Given the description of an element on the screen output the (x, y) to click on. 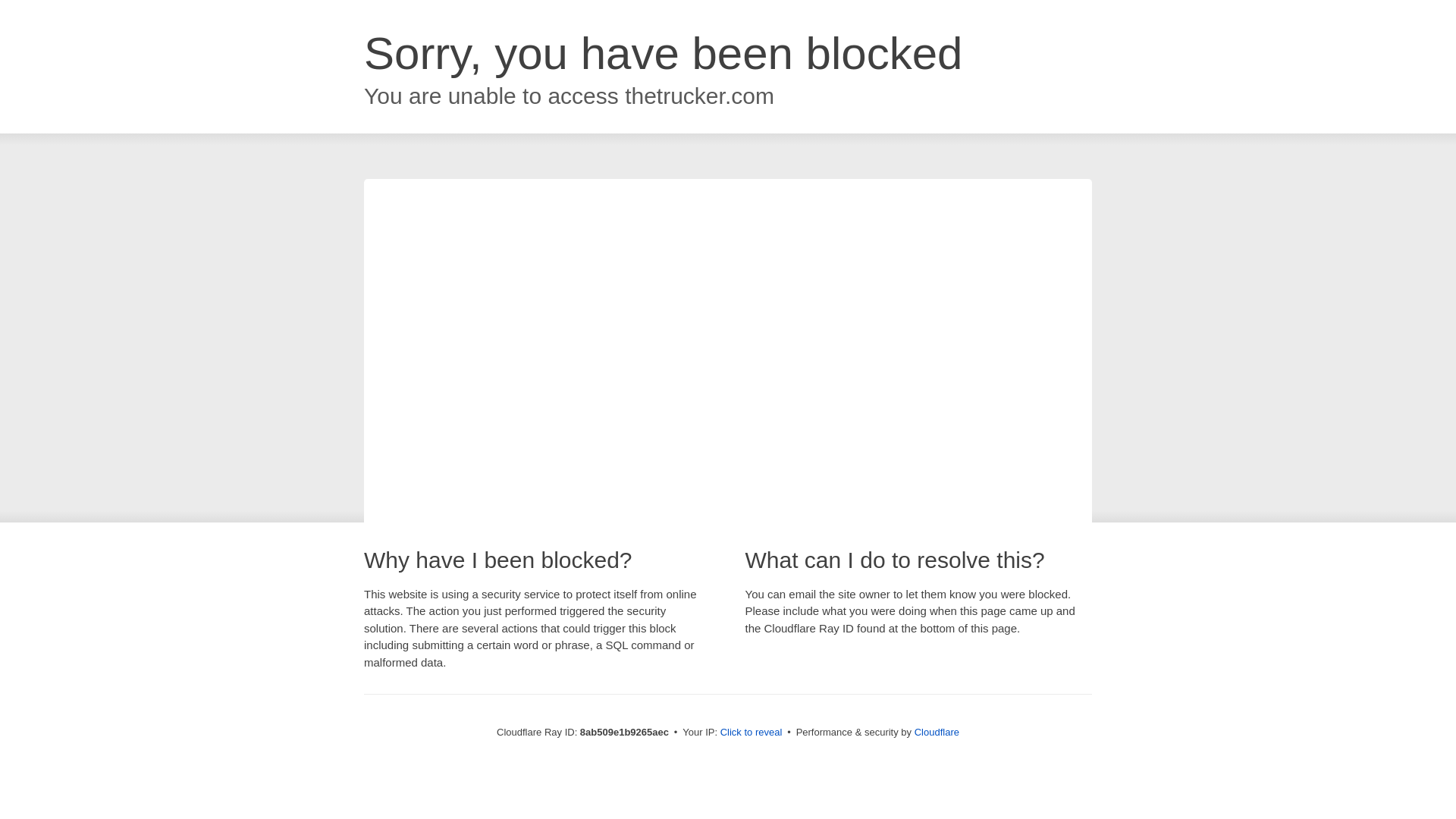
Cloudflare (936, 731)
Click to reveal (751, 732)
